Given the description of an element on the screen output the (x, y) to click on. 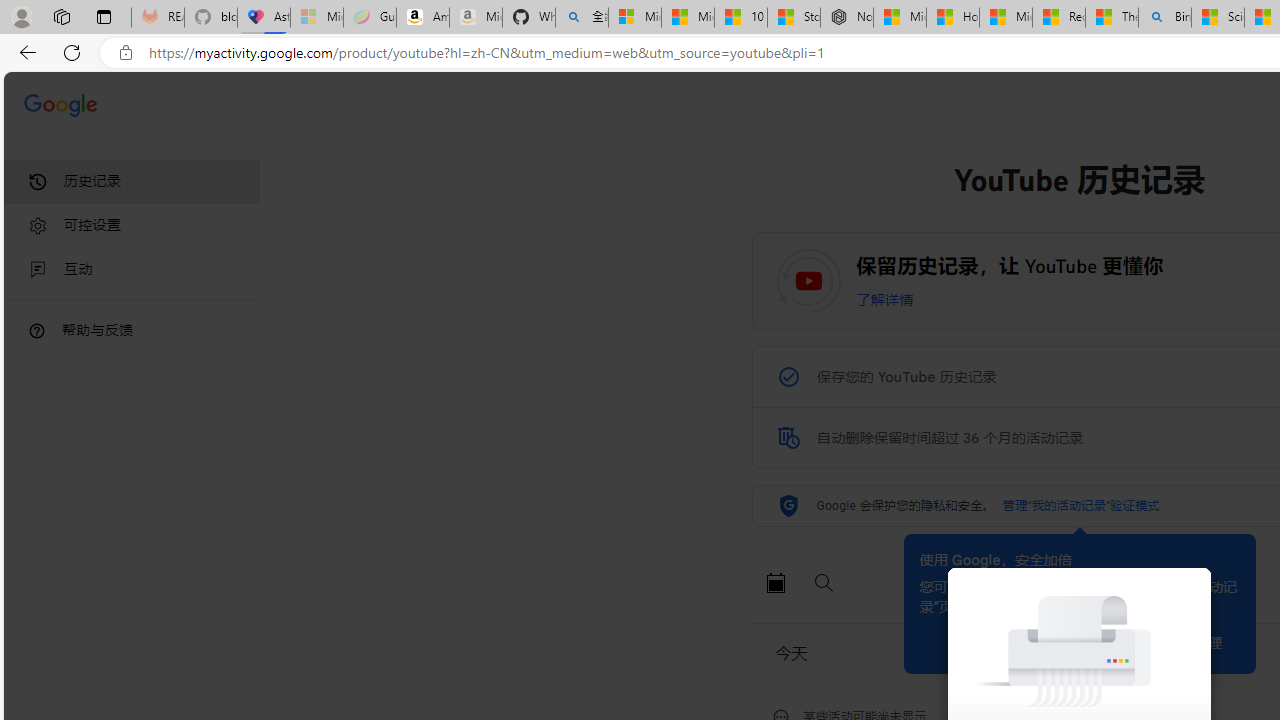
Nordace - Nordace Siena Is Not An Ordinary Backpack (846, 17)
